Given the description of an element on the screen output the (x, y) to click on. 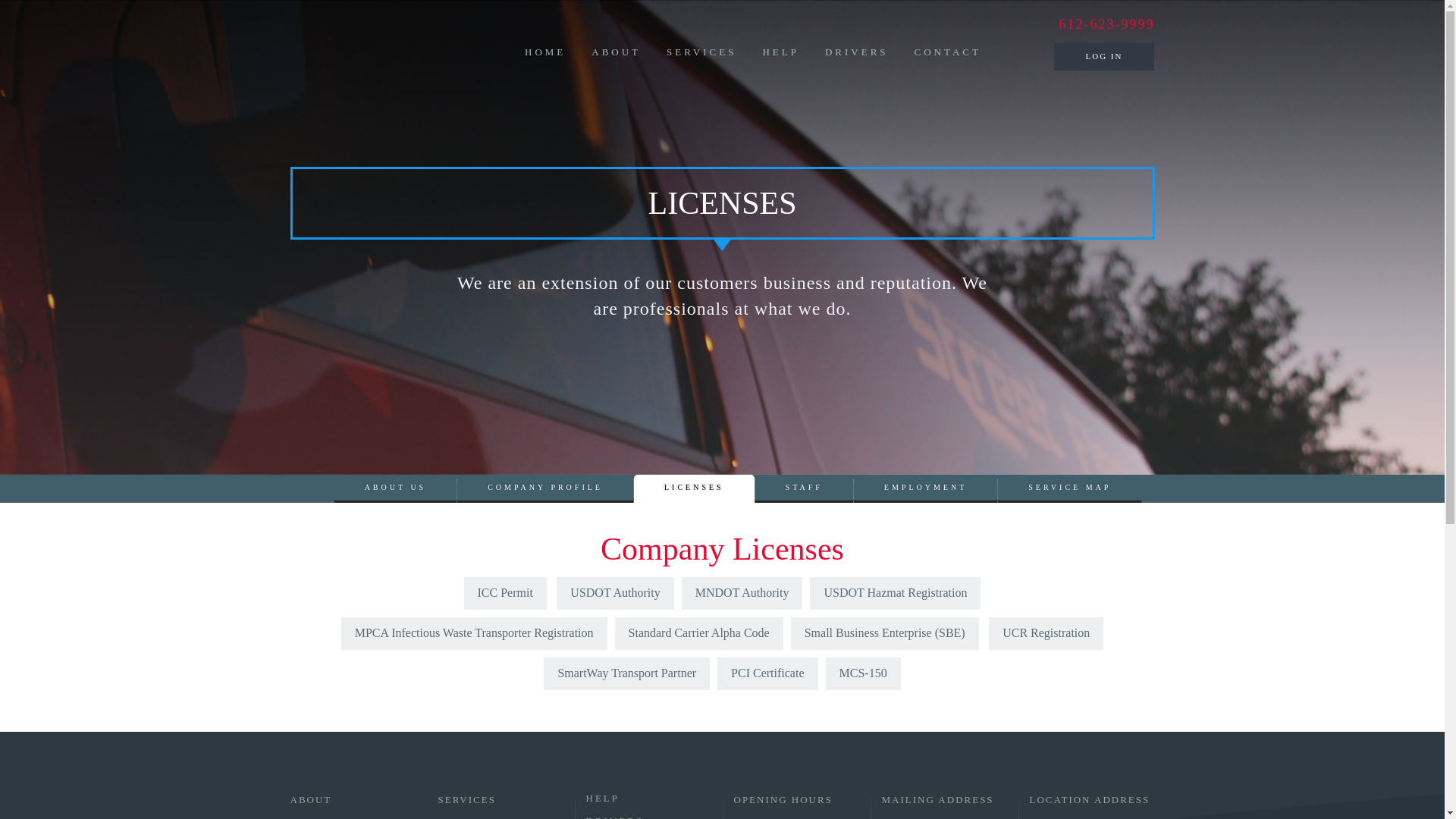
SERVICES (701, 63)
LOG IN (1104, 56)
DRIVERS (856, 63)
CONTACT (947, 63)
EMPLOYMENT (925, 488)
ABOUT (615, 63)
LICENSES (693, 488)
STAFF (804, 488)
ABOUT US (395, 488)
USDOT Authority (614, 593)
